Given the description of an element on the screen output the (x, y) to click on. 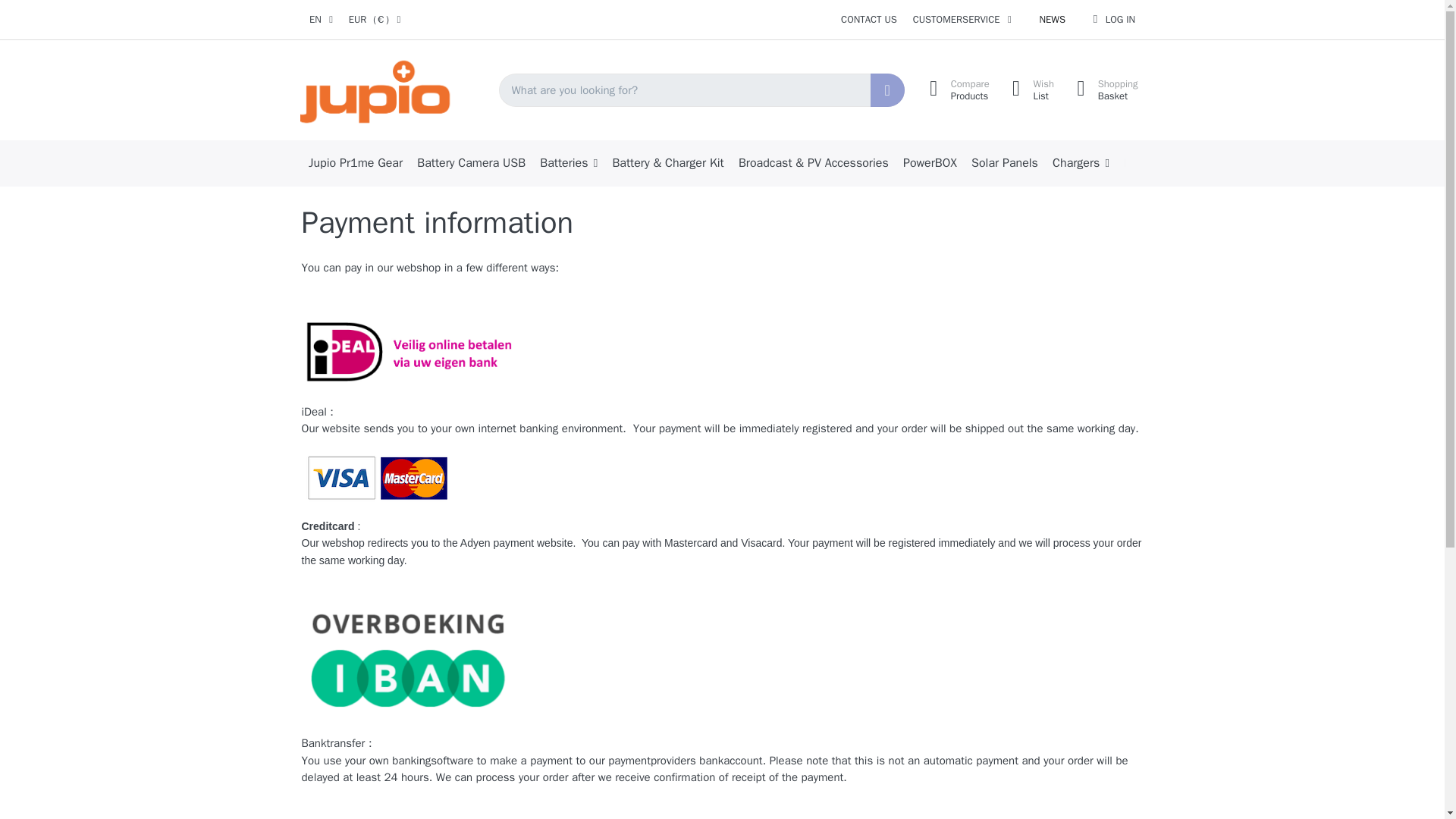
EN (320, 19)
Solar Panels (1004, 163)
Batteries (568, 163)
Chargers (1080, 163)
PowerBOX (954, 90)
LOG IN (929, 163)
NEWS (1113, 19)
CONTACT US (1051, 19)
Jupio Pr1me Gear (868, 19)
